Given the description of an element on the screen output the (x, y) to click on. 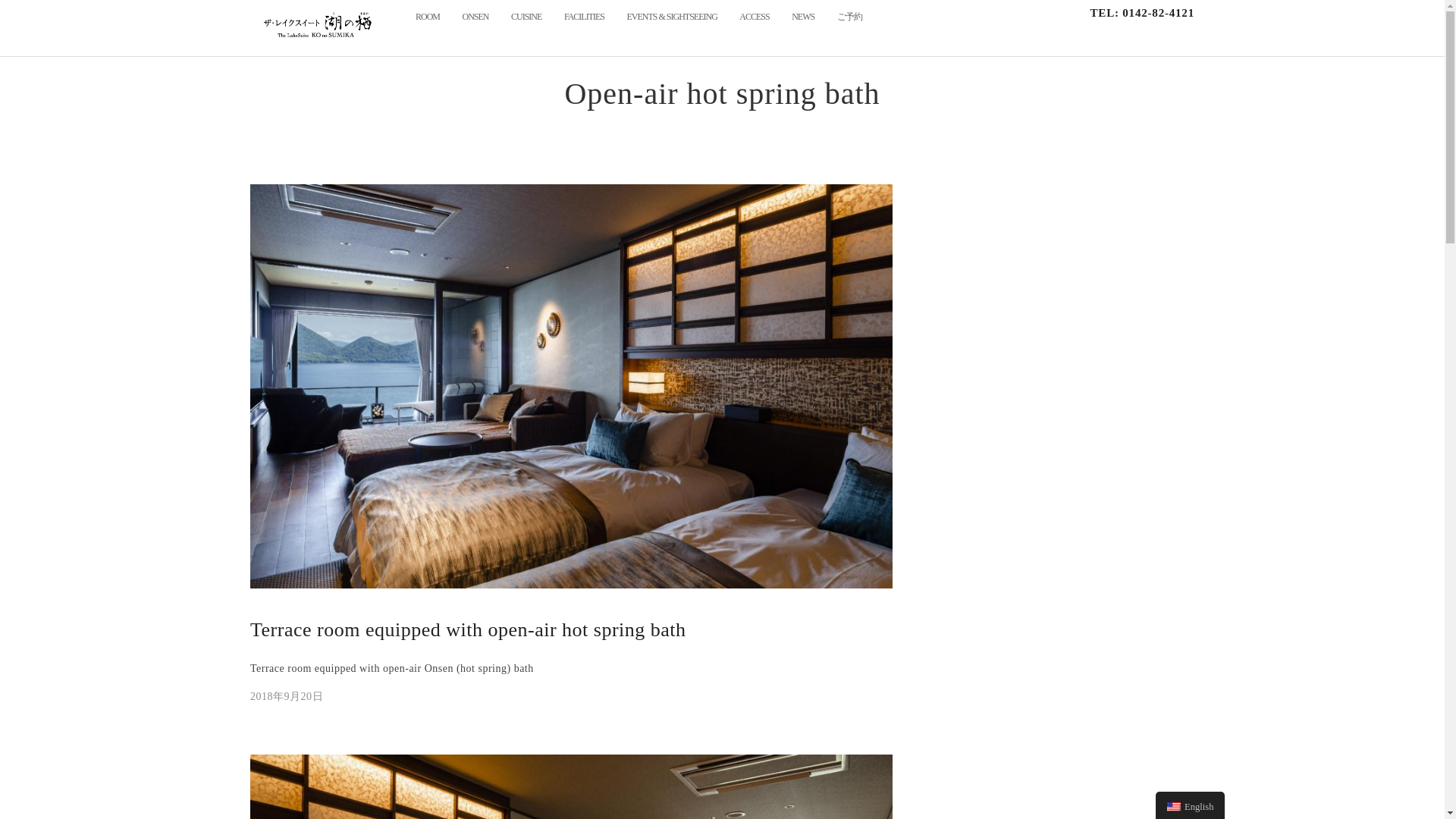
TEL: 0142-82-4121 (1135, 13)
Terrace room equipped with open-air hot spring bath (467, 629)
Terrace room equipped with open-air hot spring bath (286, 696)
ONSEN (476, 16)
CUISINE (526, 16)
FACILITIES (584, 16)
English (1173, 806)
ROOM (426, 16)
NEWS (802, 16)
Terrace room equipped with open-air hot spring bath (467, 629)
ACCESS (753, 16)
